Given the description of an element on the screen output the (x, y) to click on. 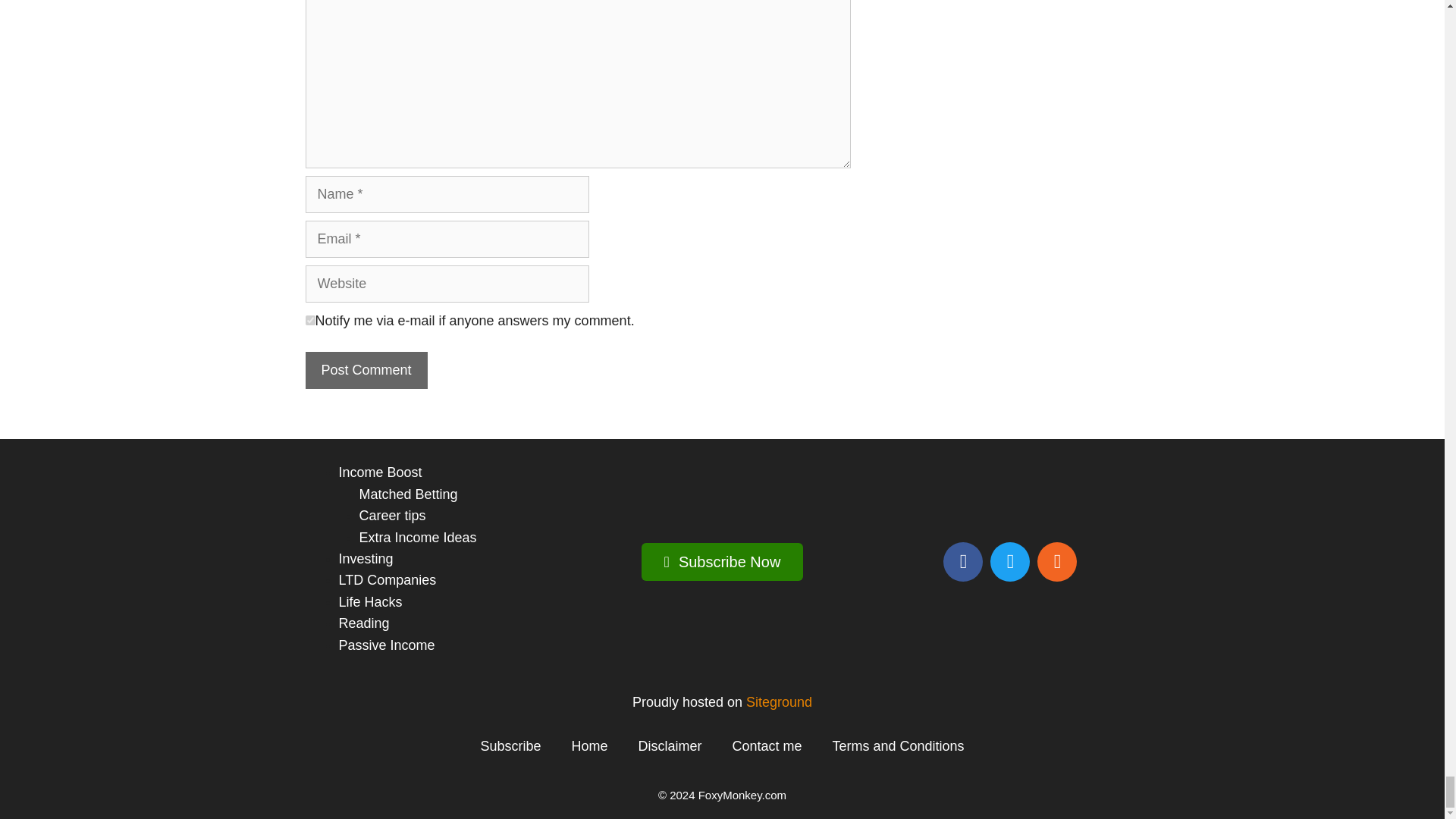
on (309, 320)
Post Comment (365, 370)
